Given the description of an element on the screen output the (x, y) to click on. 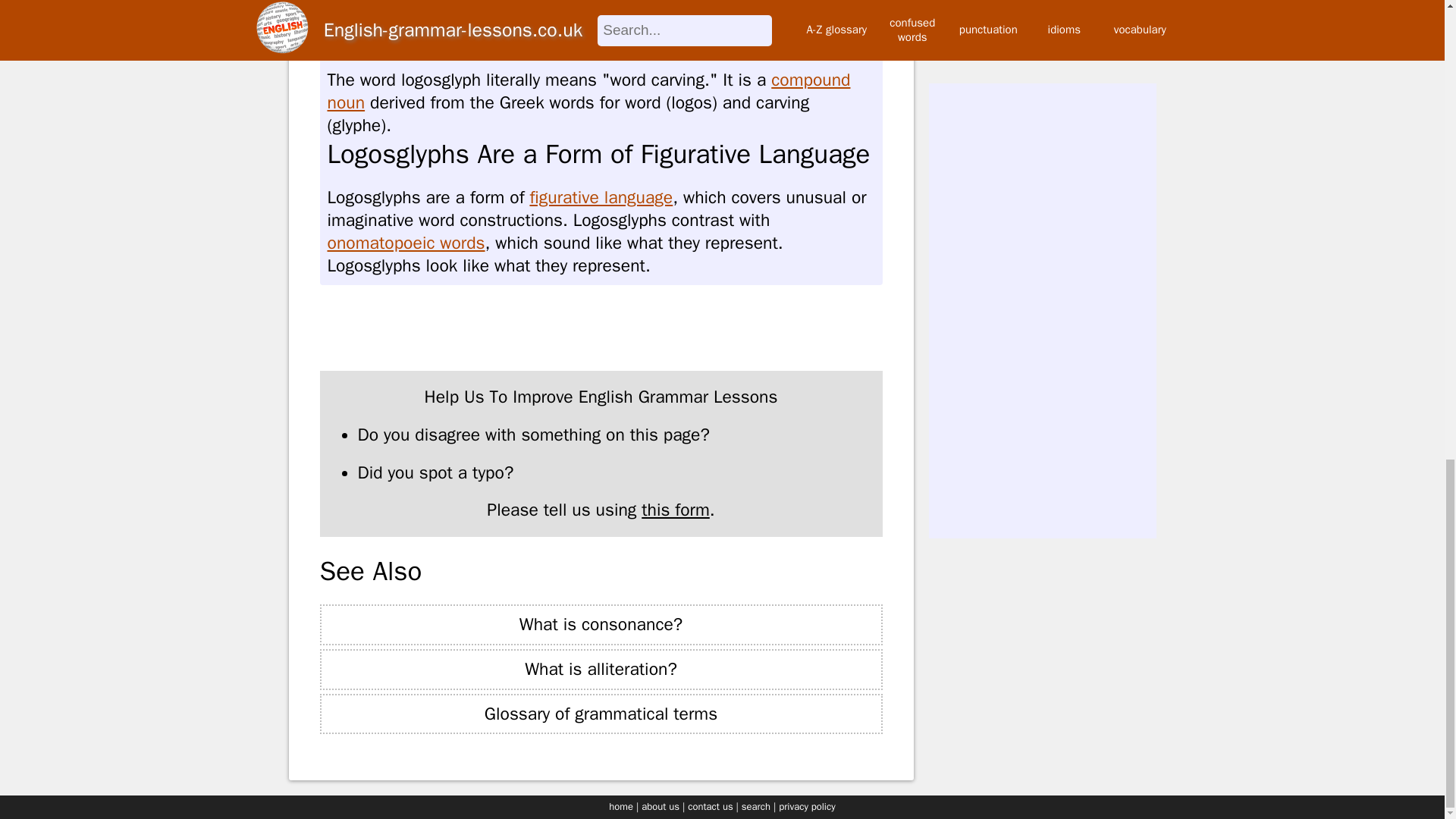
contact us (709, 806)
home (620, 806)
compound noun (588, 90)
search (755, 806)
Glossary of grammatical terms (601, 713)
What is alliteration? (601, 669)
figurative language (600, 197)
privacy policy (806, 806)
onomatopoeic words (405, 242)
about us (660, 806)
